Given the description of an element on the screen output the (x, y) to click on. 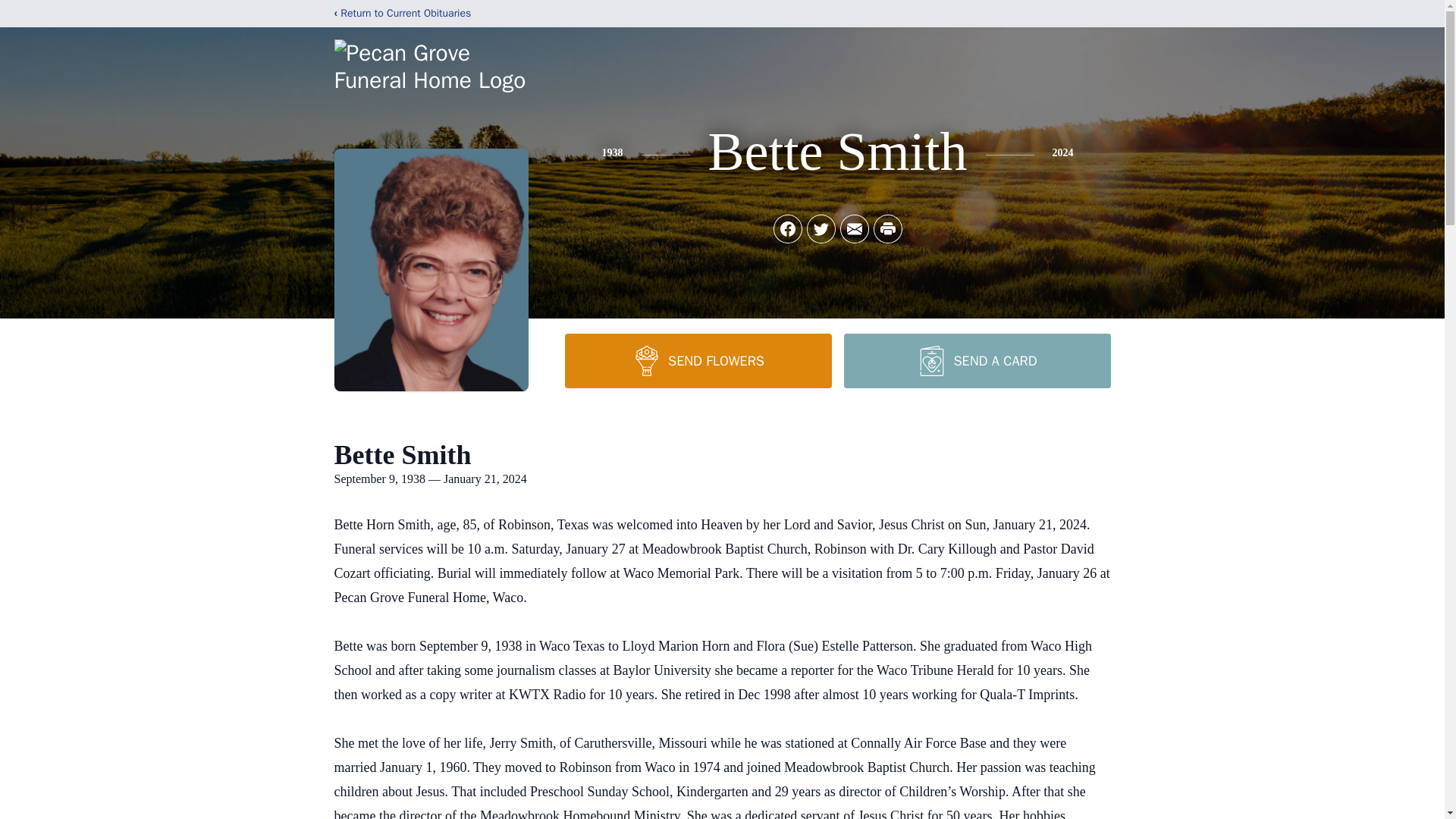
SEND FLOWERS (697, 360)
SEND A CARD (976, 360)
